Given the description of an element on the screen output the (x, y) to click on. 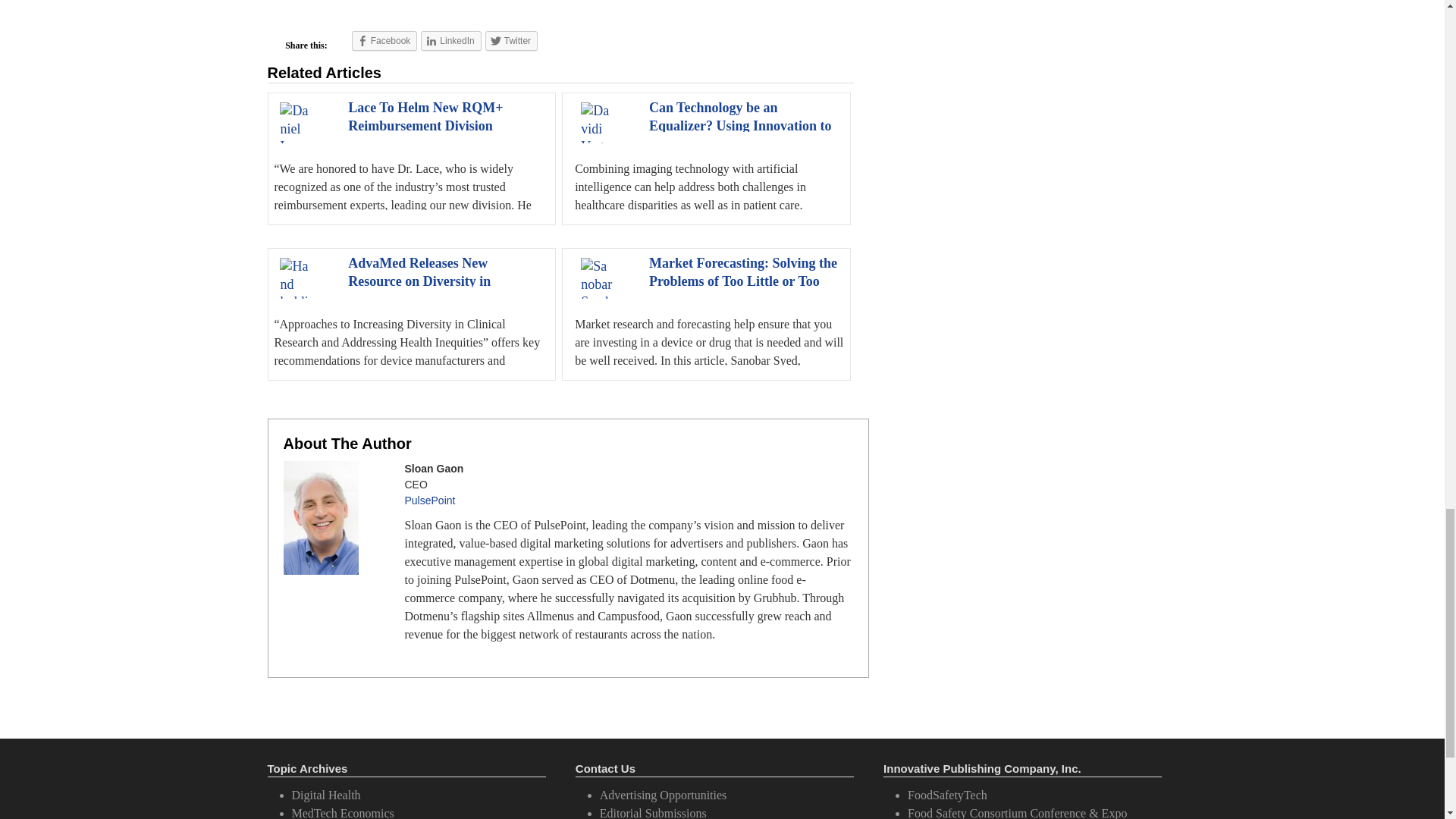
Click to share on Facebook (384, 40)
Facebook (384, 40)
LinkedIn (450, 40)
